Given the description of an element on the screen output the (x, y) to click on. 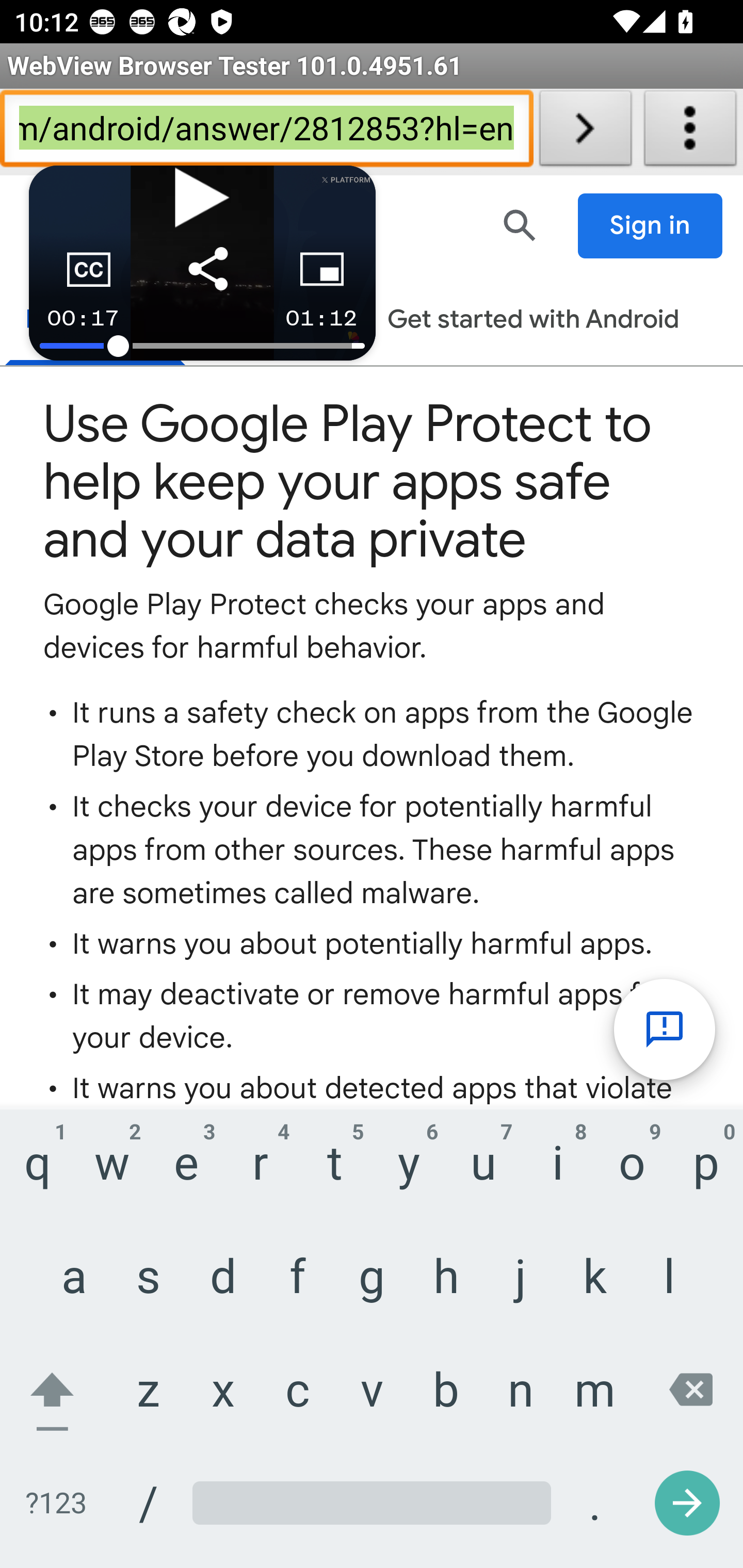
Load URL (585, 132)
About WebView (690, 132)
Search Help Center (519, 225)
Sign in (650, 226)
